Given the description of an element on the screen output the (x, y) to click on. 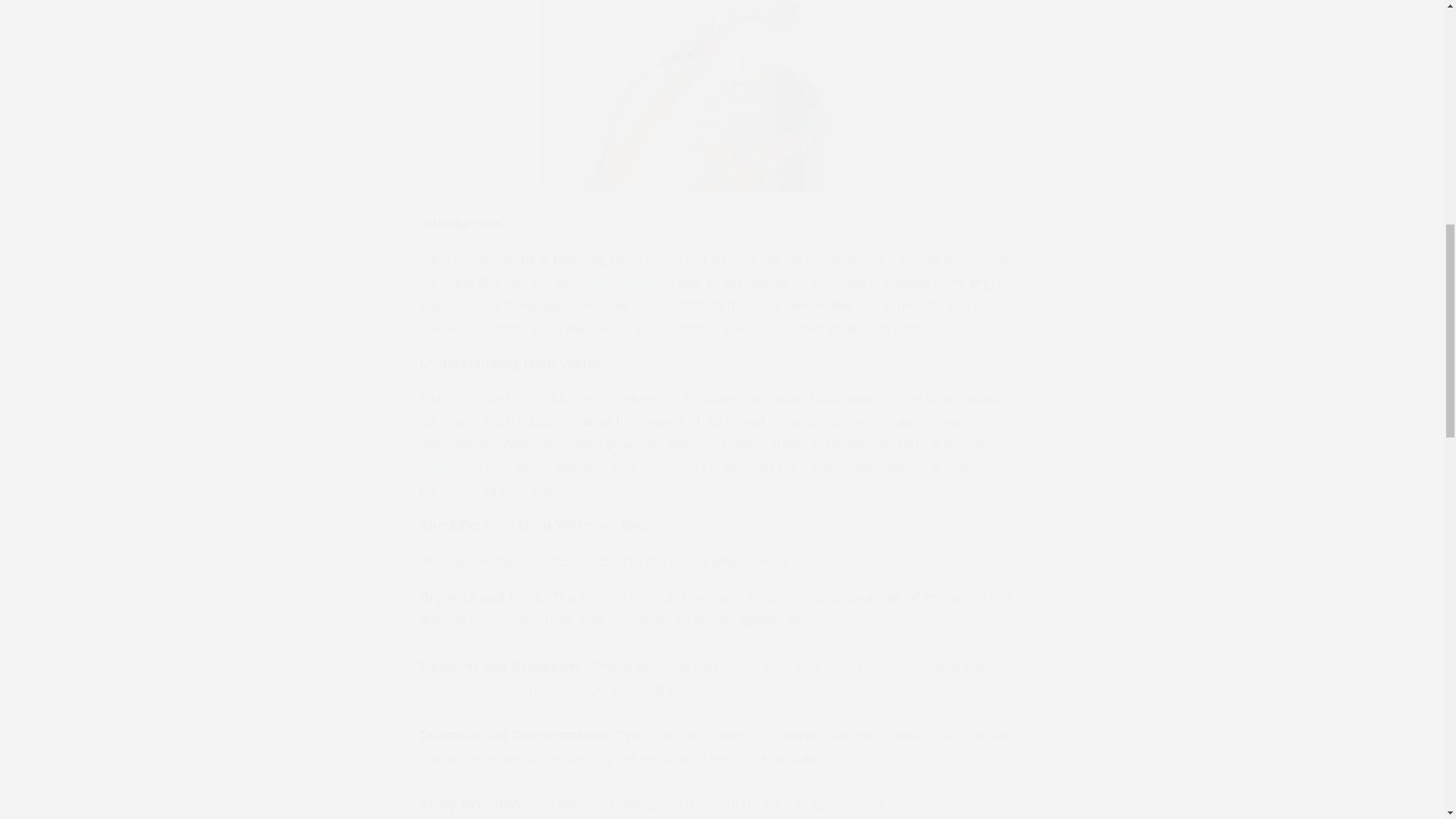
Magnesium (622, 281)
scalp (435, 467)
Dry (980, 281)
